Given the description of an element on the screen output the (x, y) to click on. 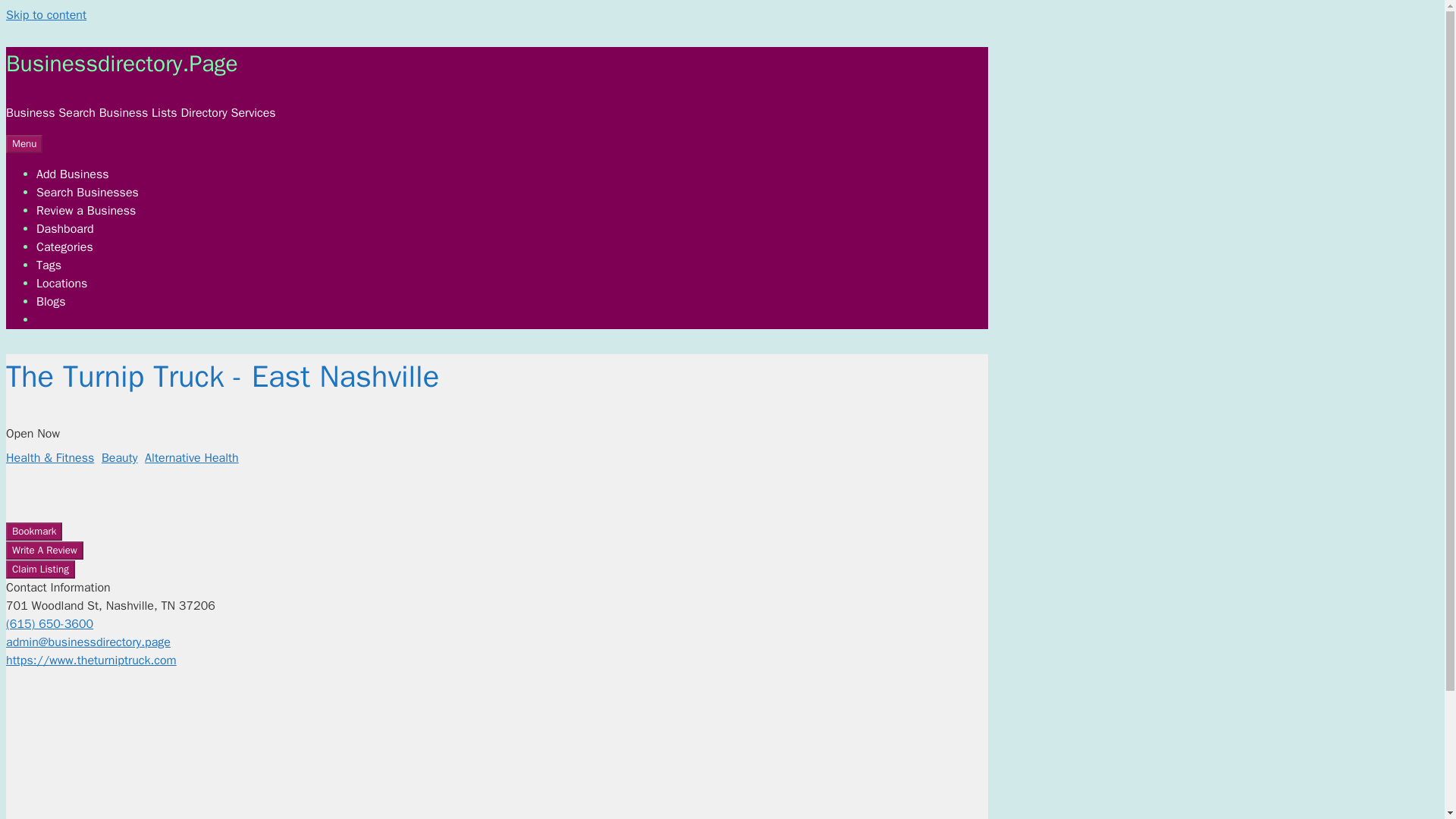
Review a Business (85, 210)
Businessdirectory.Page (121, 63)
Blogs (50, 301)
Bookmark (33, 531)
Alternative Health (191, 458)
Locations (61, 283)
Search Businesses (87, 192)
Claim Listing (40, 569)
Beauty (119, 458)
Write A Review (43, 550)
